Given the description of an element on the screen output the (x, y) to click on. 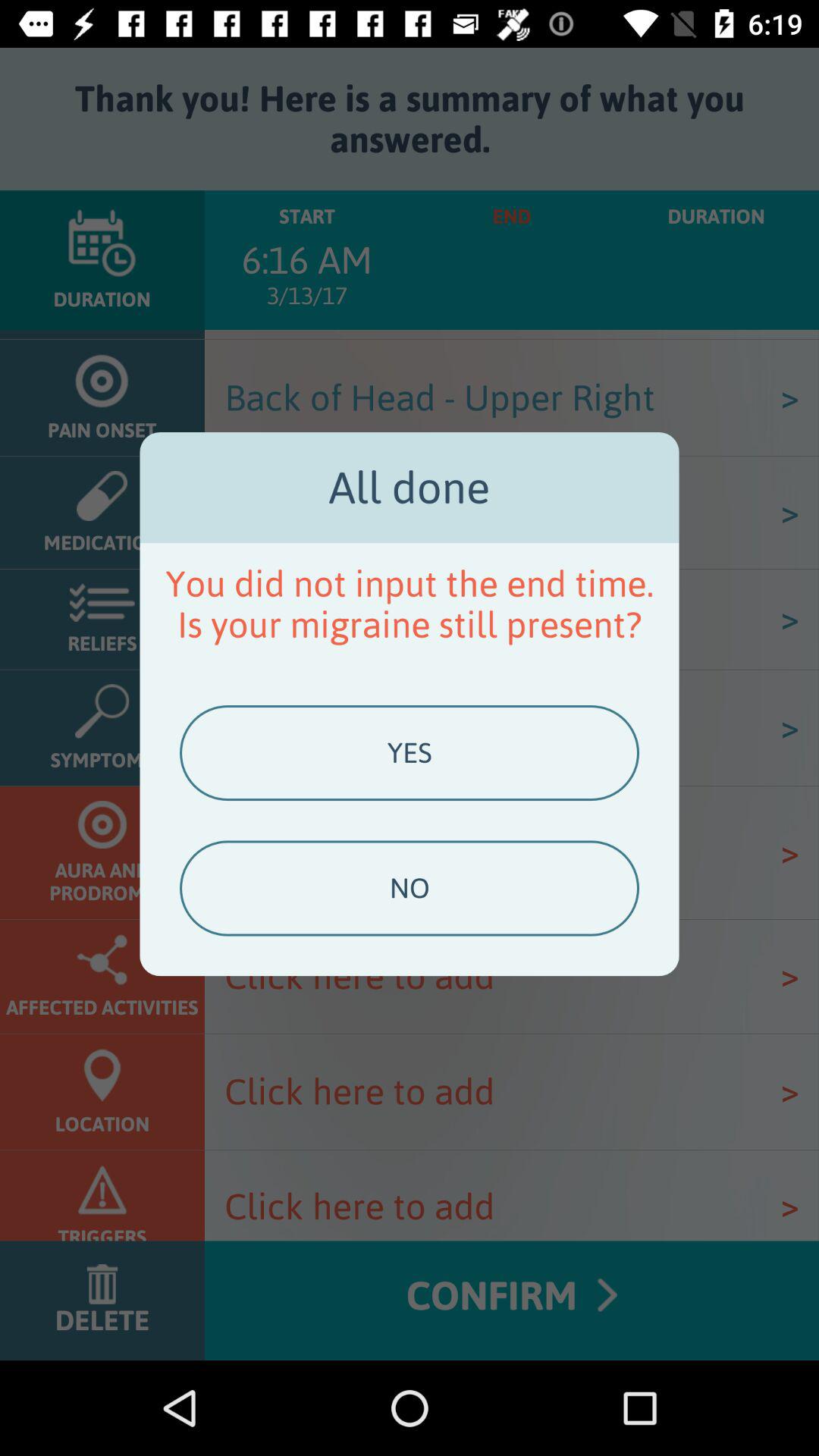
swipe to you did not app (409, 604)
